Given the description of an element on the screen output the (x, y) to click on. 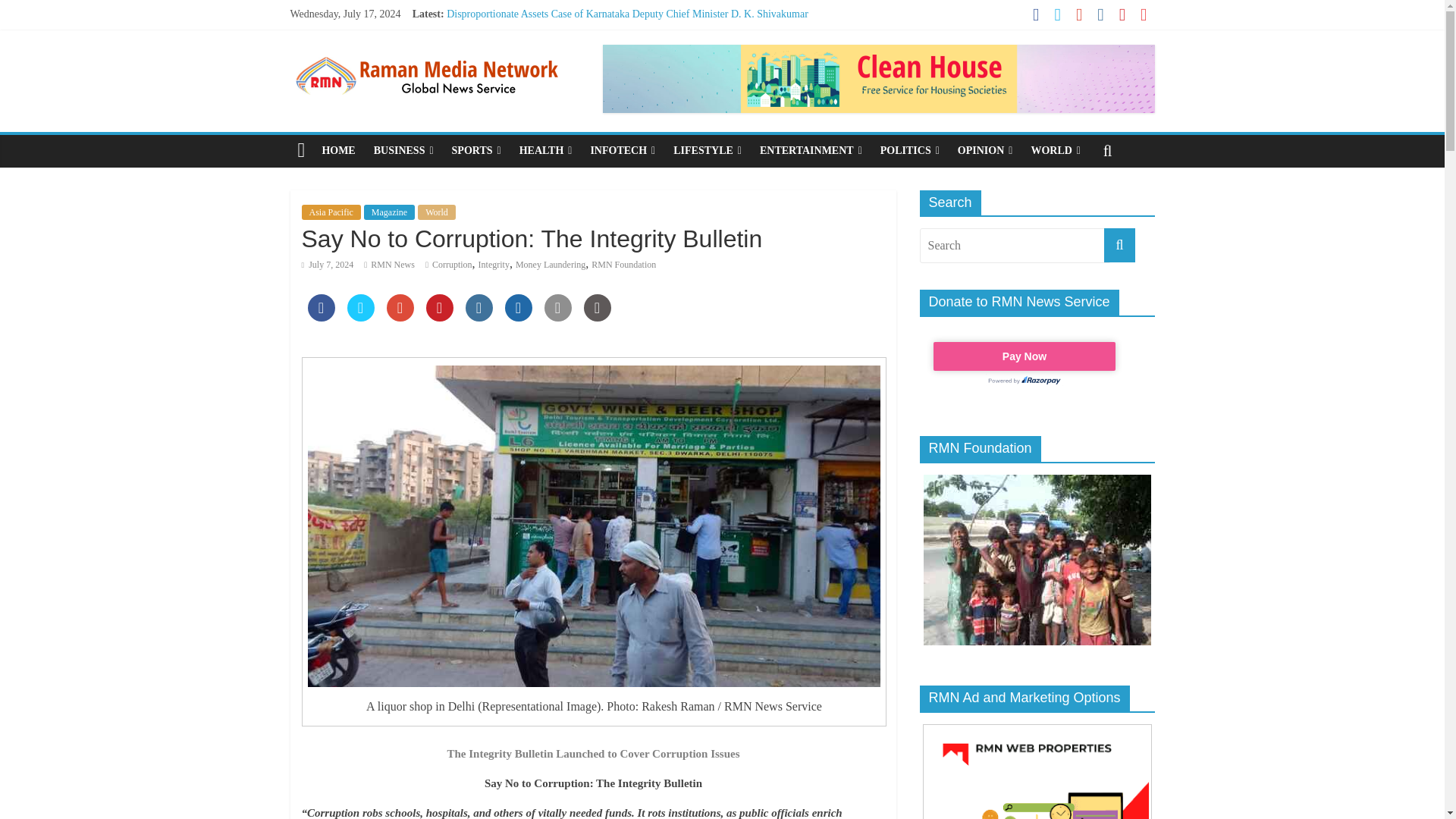
HEALTH (545, 151)
Raman Media Network (425, 53)
ENTERTAINMENT (810, 151)
Share on Google Plus (400, 316)
Share on Twitter (360, 316)
SPORTS (476, 151)
HOME (338, 151)
Share on Facebook (320, 316)
INFOTECH (621, 151)
LIFESTYLE (707, 151)
RMN News (392, 264)
Raman Media Network (301, 151)
